Given the description of an element on the screen output the (x, y) to click on. 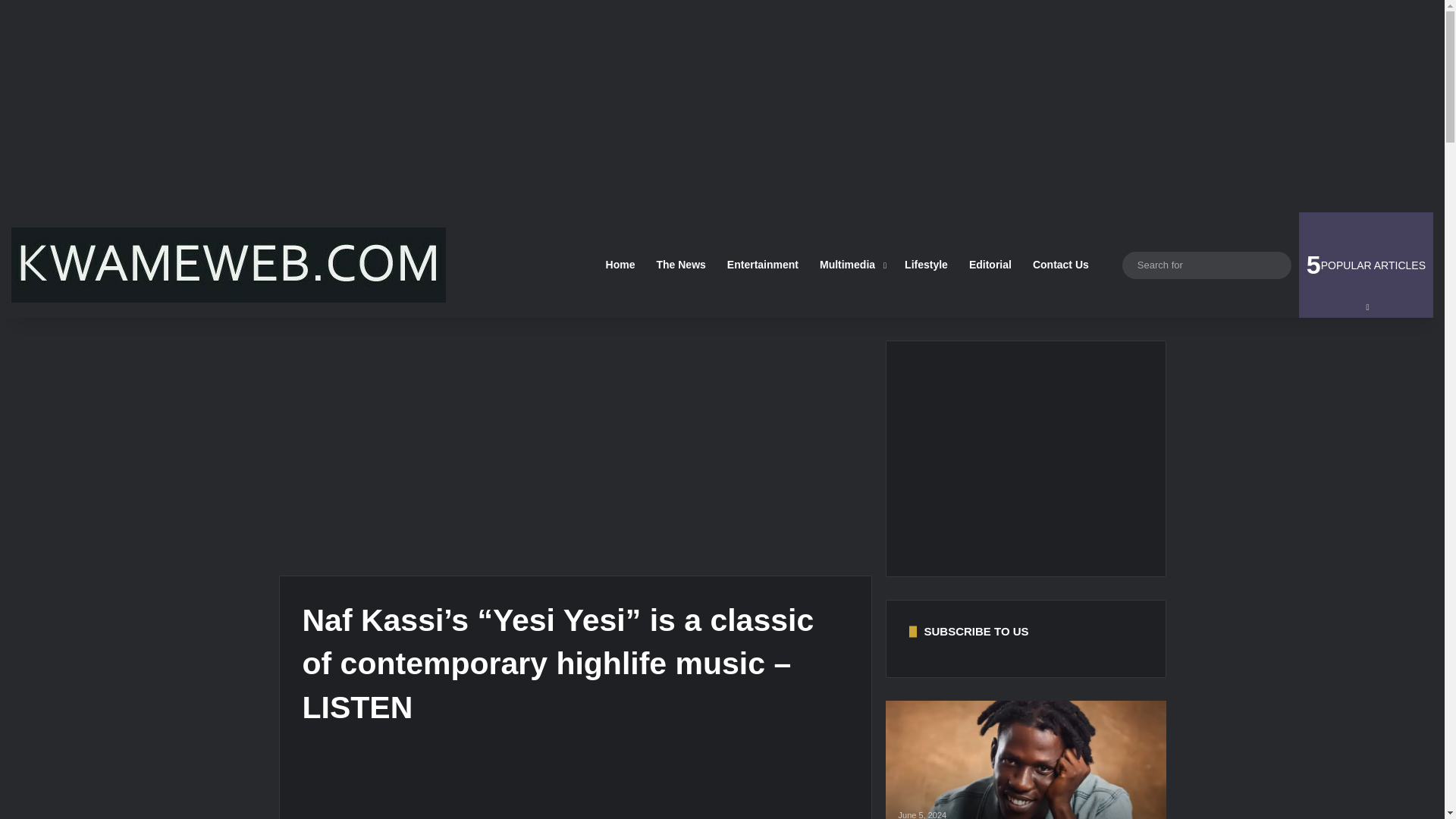
Search for (1206, 264)
Search for (1365, 264)
KwameWeb (1275, 265)
